Given the description of an element on the screen output the (x, y) to click on. 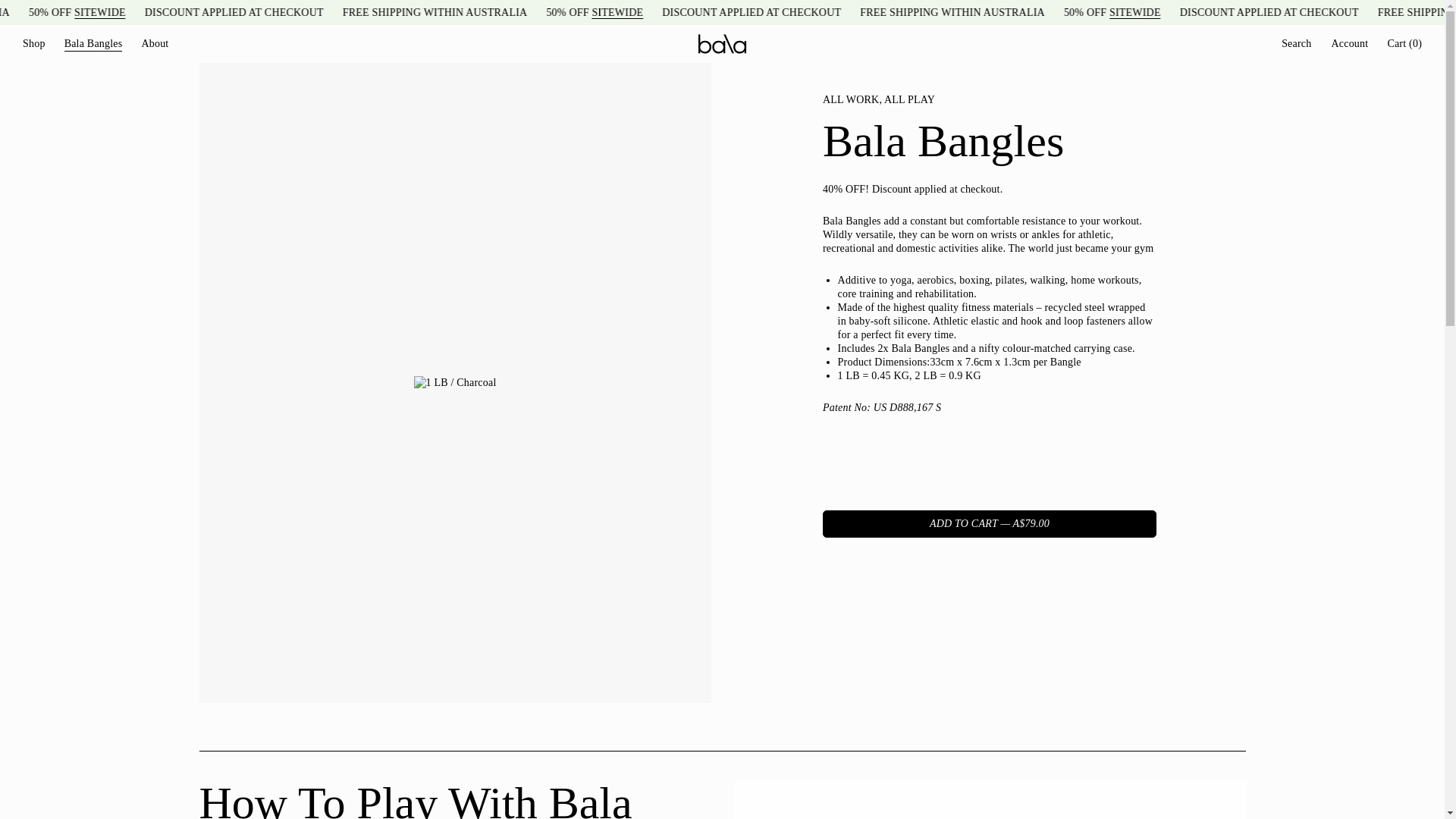
SITEWIDE (1305, 11)
SITEWIDE (788, 11)
SITEWIDE (273, 11)
